Given the description of an element on the screen output the (x, y) to click on. 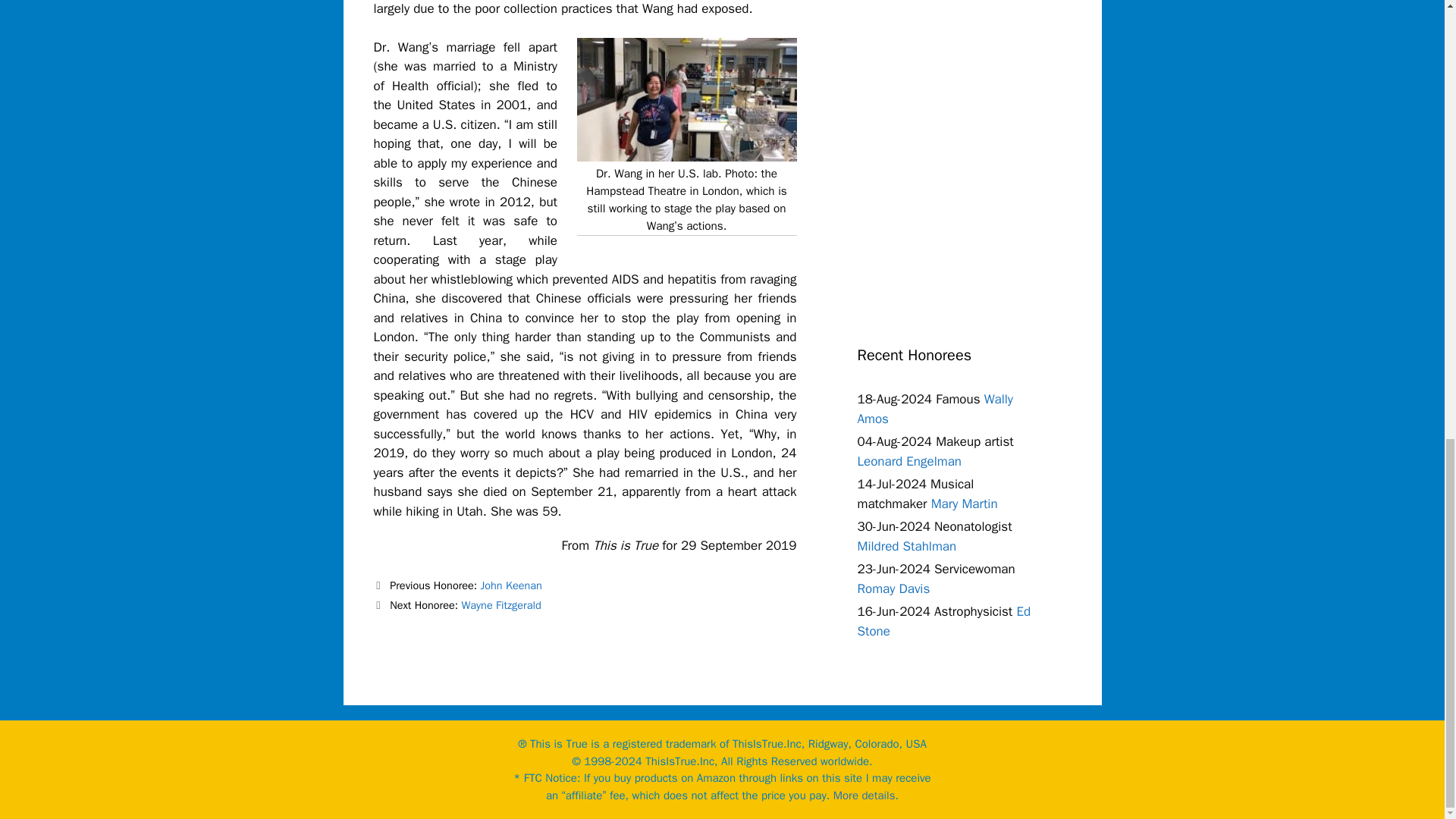
John Keenan (510, 585)
Advertisement (970, 160)
Wayne Fitzgerald (500, 604)
Mary Martin (964, 503)
Mildred Stahlman (906, 546)
Next Honoree (456, 604)
Romay Davis (893, 588)
Wally Amos (935, 408)
Leonard Engelman (908, 461)
More details (863, 795)
